Given the description of an element on the screen output the (x, y) to click on. 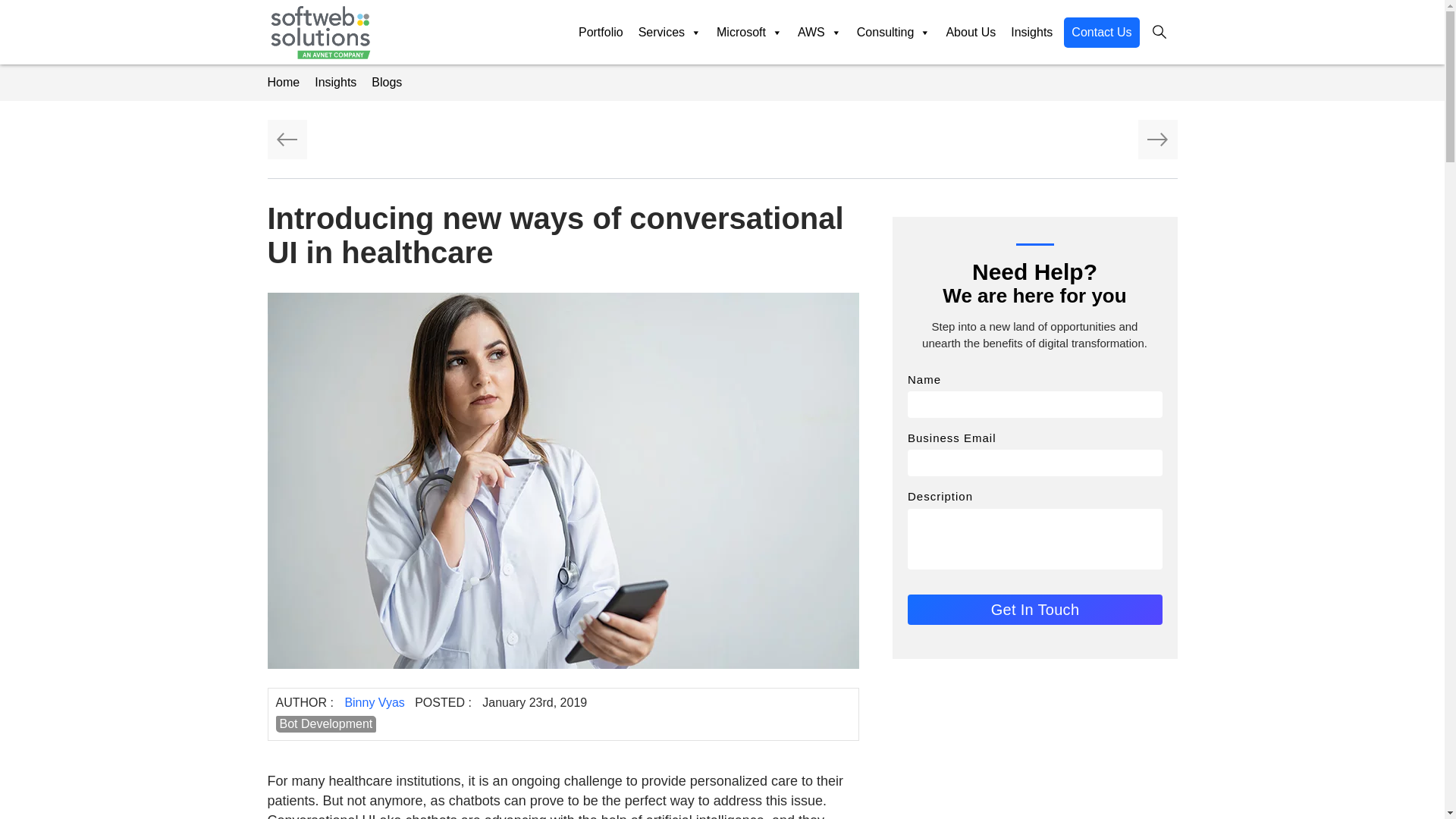
Portfolio (600, 32)
search (1159, 31)
Services (669, 32)
